Given the description of an element on the screen output the (x, y) to click on. 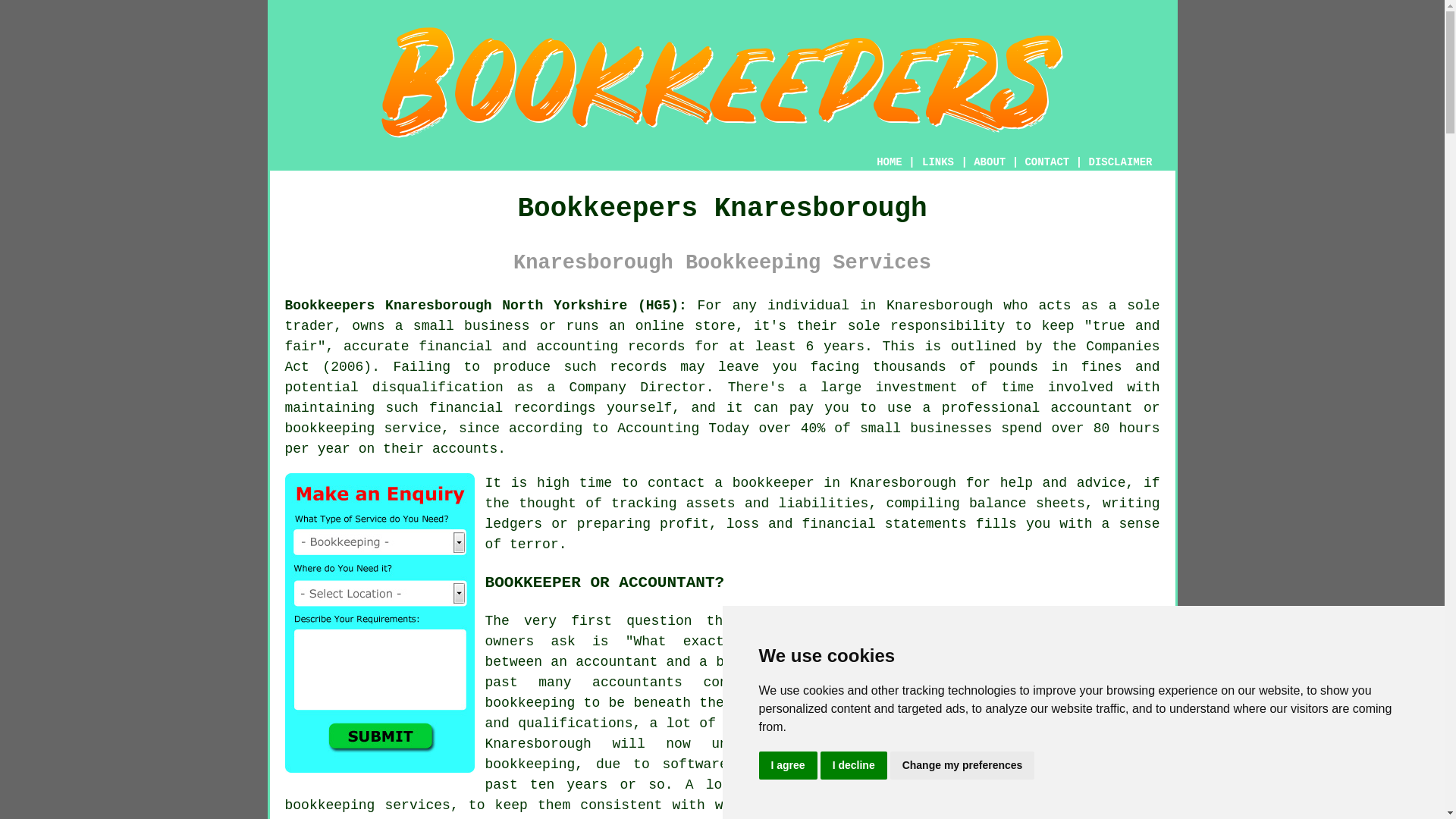
LINKS (938, 161)
I agree (787, 765)
a bookkeeper (763, 482)
Change my preferences (962, 765)
HOME (889, 162)
I decline (853, 765)
Bookkeepers Knaresborough (721, 82)
